Given the description of an element on the screen output the (x, y) to click on. 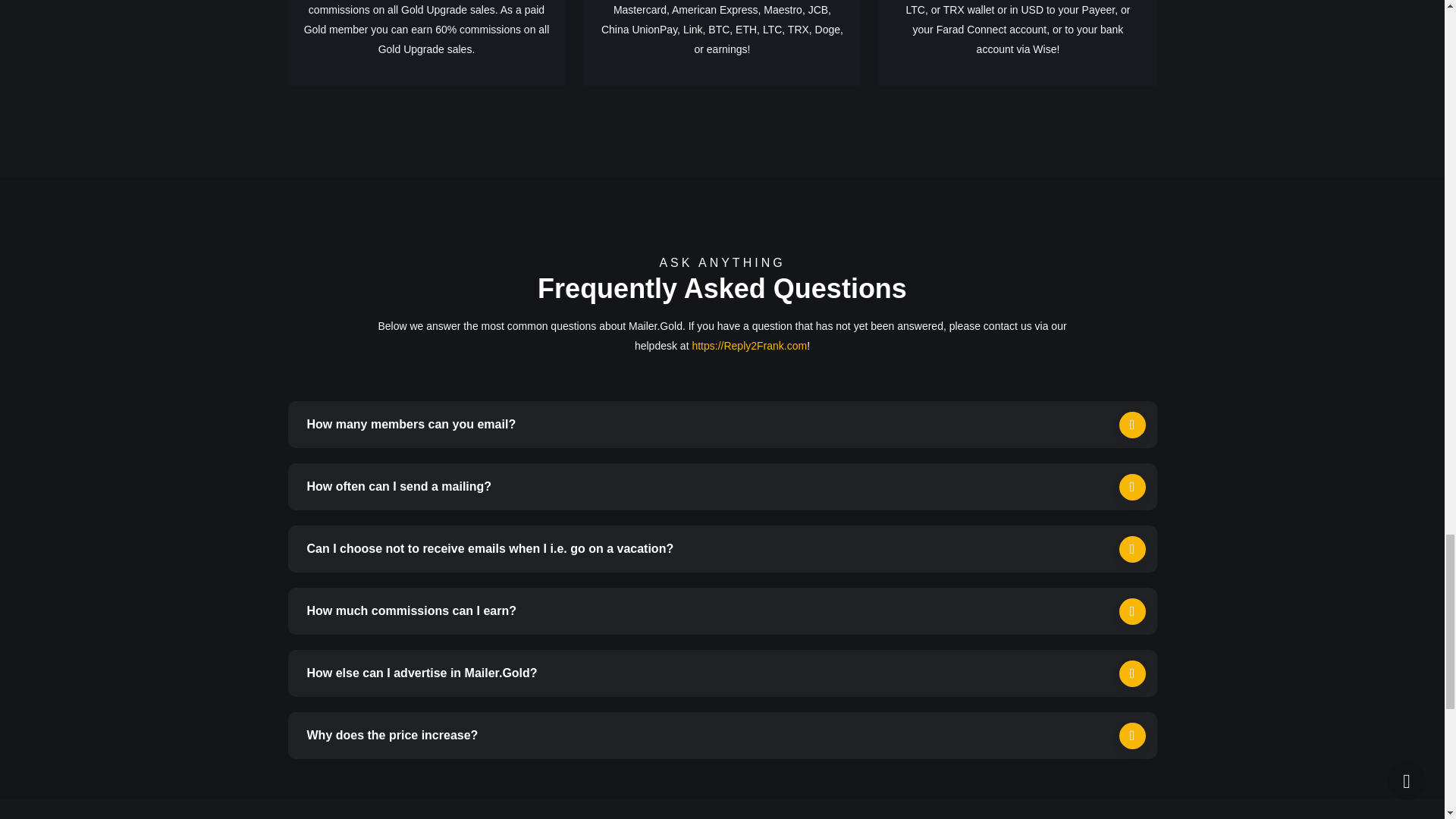
Why does the price increase? (722, 735)
How often can I send a mailing? (722, 486)
How else can I advertise in Mailer.Gold? (722, 673)
How much commissions can I earn? (722, 611)
How many members can you email? (722, 424)
